Given the description of an element on the screen output the (x, y) to click on. 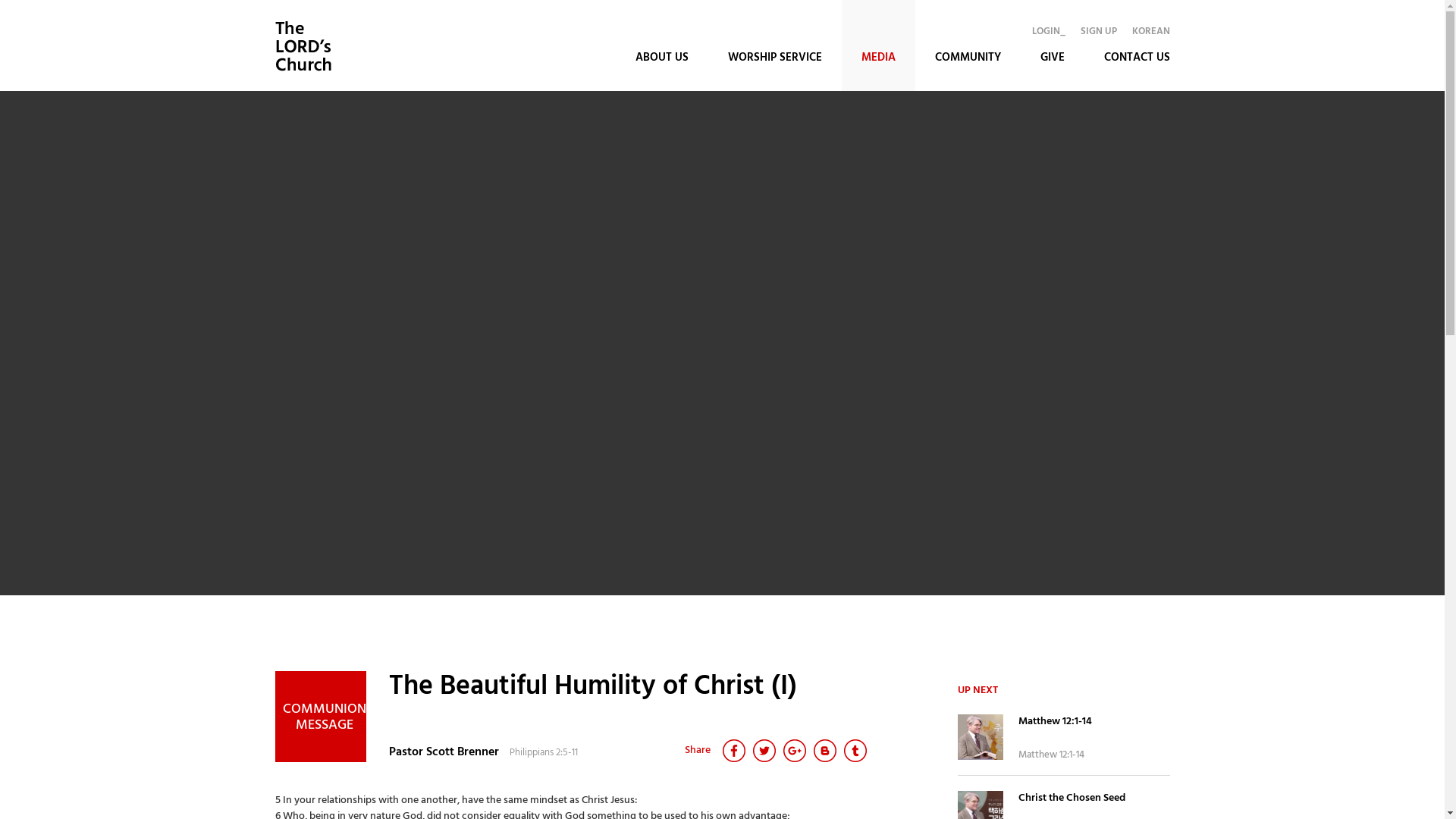
ABOUT US Element type: text (661, 45)
SIGN UP Element type: text (1097, 31)
tumblr Element type: text (854, 750)
Matthew 12:1-14 Element type: text (1093, 728)
WORSHIP SERVICE Element type: text (774, 45)
facebook Element type: text (732, 750)
google+ Element type: text (793, 750)
twitter Element type: text (763, 750)
COMMUNITY Element type: text (966, 45)
MEDIA Element type: text (878, 45)
CONTACT US Element type: text (1136, 45)
GIVE Element type: text (1052, 45)
LOGIN_ Element type: text (1047, 31)
KOREAN Element type: text (1150, 31)
blogger Element type: text (823, 750)
